Given the description of an element on the screen output the (x, y) to click on. 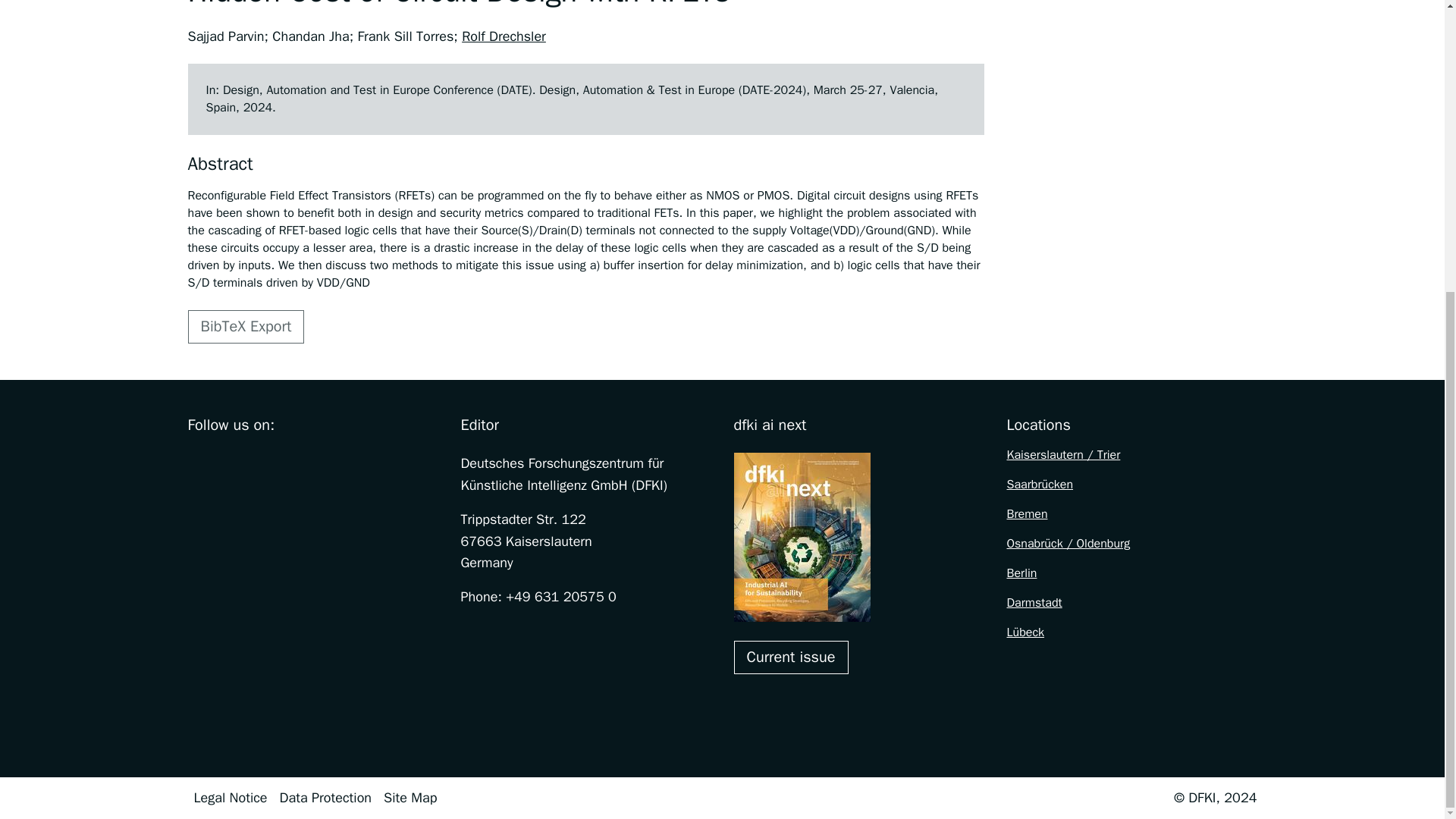
To AI Magazine dfki ai next (790, 657)
Follow us on: X (260, 462)
Follow us on: Instagram (229, 462)
Follow us on: Youtube (292, 462)
Follow us on: LinkedIn (324, 462)
Follow us on: Facebook (197, 462)
